Given the description of an element on the screen output the (x, y) to click on. 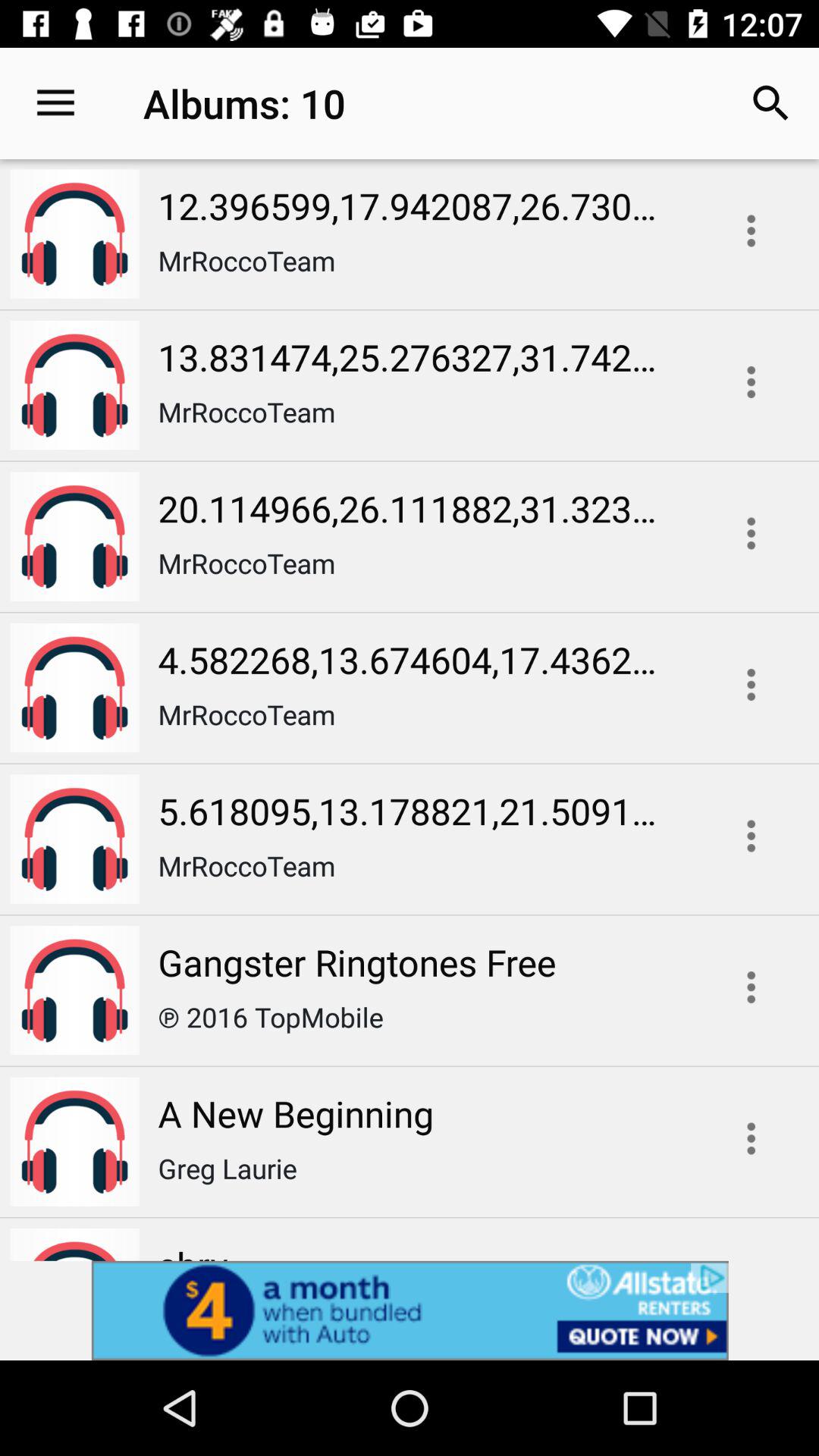
get more information (750, 1138)
